Given the description of an element on the screen output the (x, y) to click on. 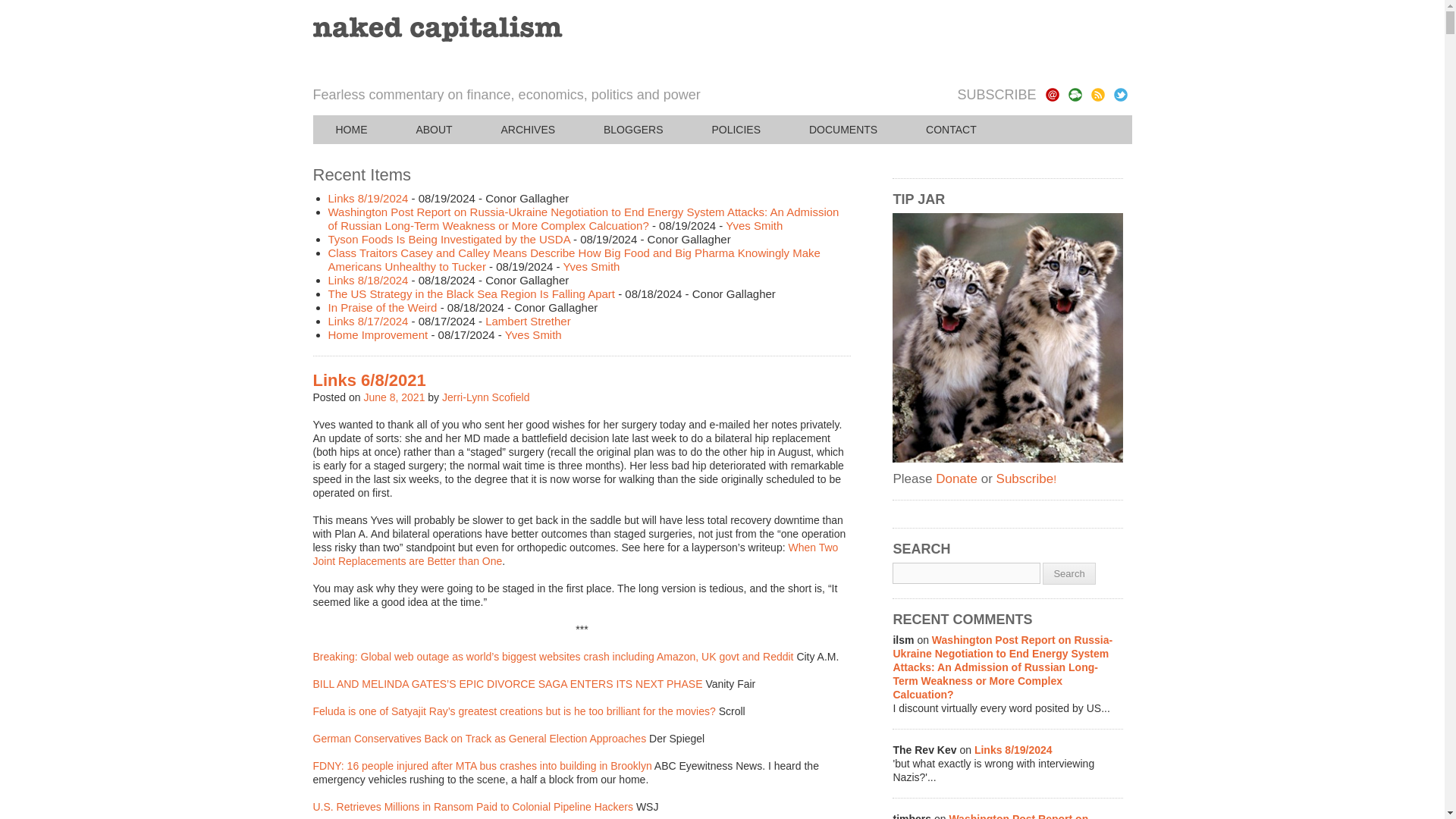
Subscribe via Email (1051, 94)
Subscribe to posts via Email (1051, 94)
Jerri-Lynn Scofield (485, 397)
POLICIES (735, 129)
Follow yvessmith on Twitter (1119, 94)
Subscribe to comments via RSS feed (1074, 94)
Lambert Strether (527, 320)
In Praise of the Weird (381, 307)
Yves Smith (754, 225)
HOME (351, 129)
